Given the description of an element on the screen output the (x, y) to click on. 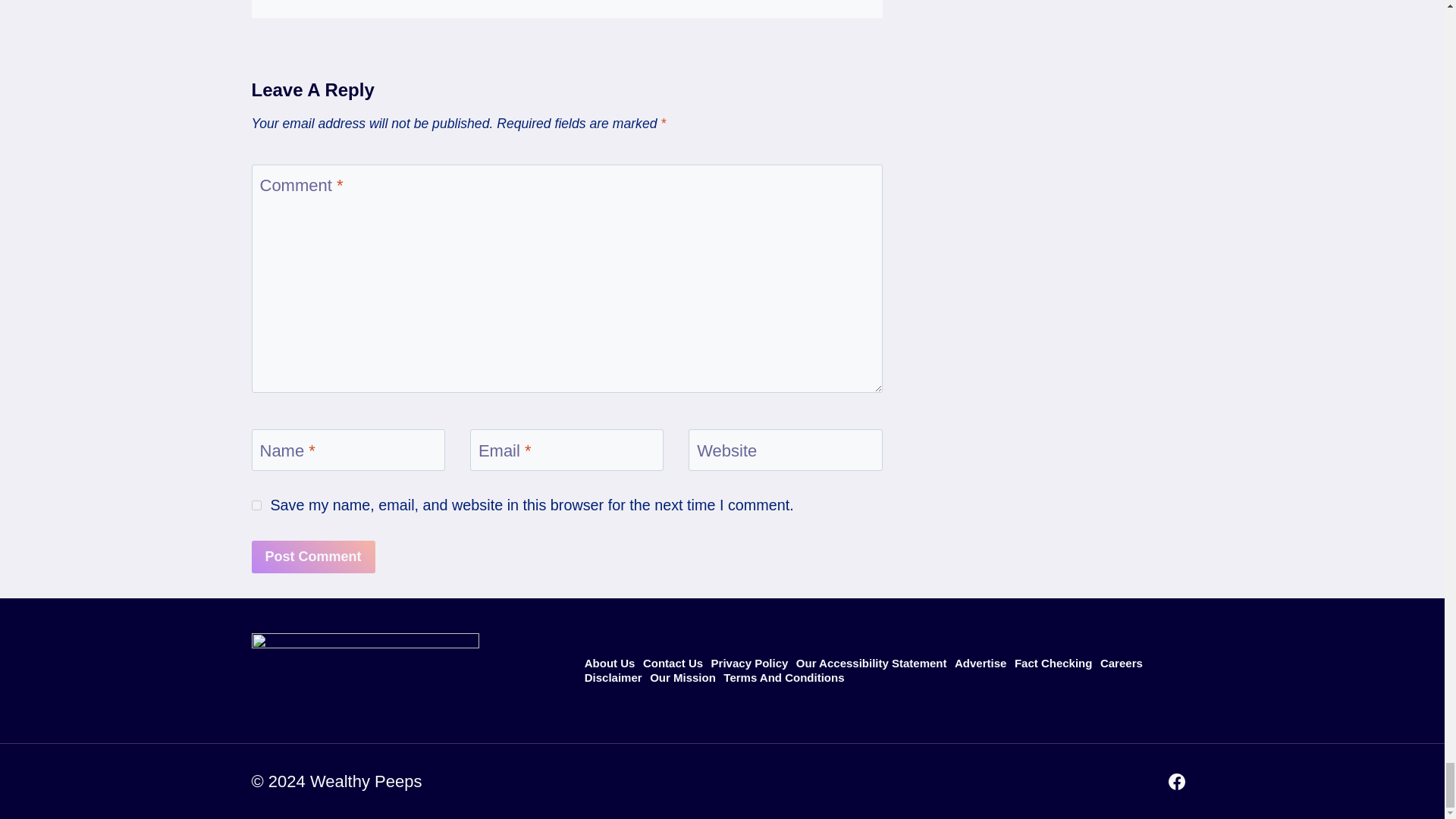
yes (256, 505)
Post Comment (313, 556)
